Given the description of an element on the screen output the (x, y) to click on. 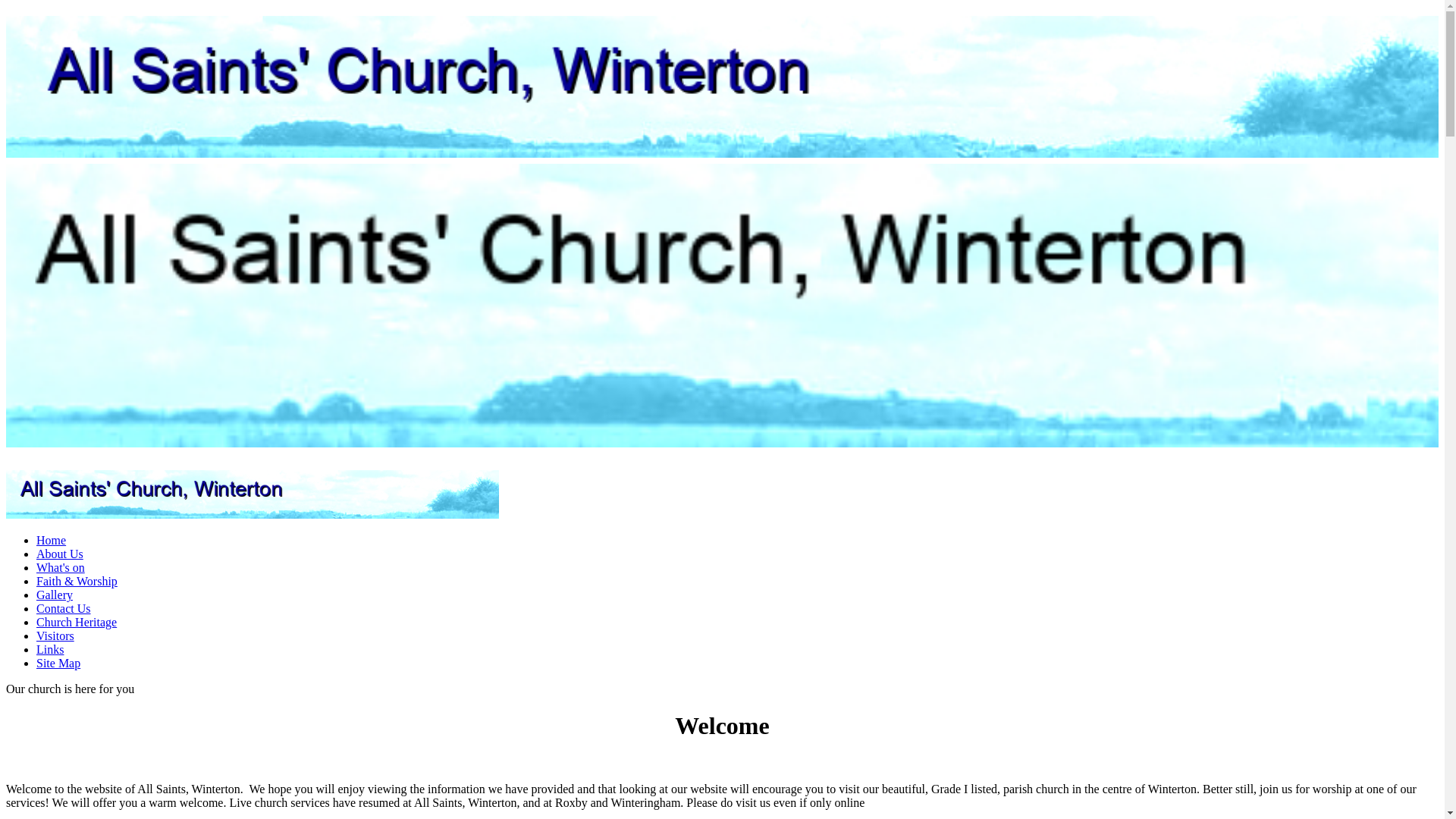
Contact Us (63, 608)
Site Map (58, 662)
About Us (59, 553)
Church Heritage (76, 621)
Gallery (54, 594)
What's on (60, 567)
Links (50, 649)
Home (50, 540)
Visitors (55, 635)
